Given the description of an element on the screen output the (x, y) to click on. 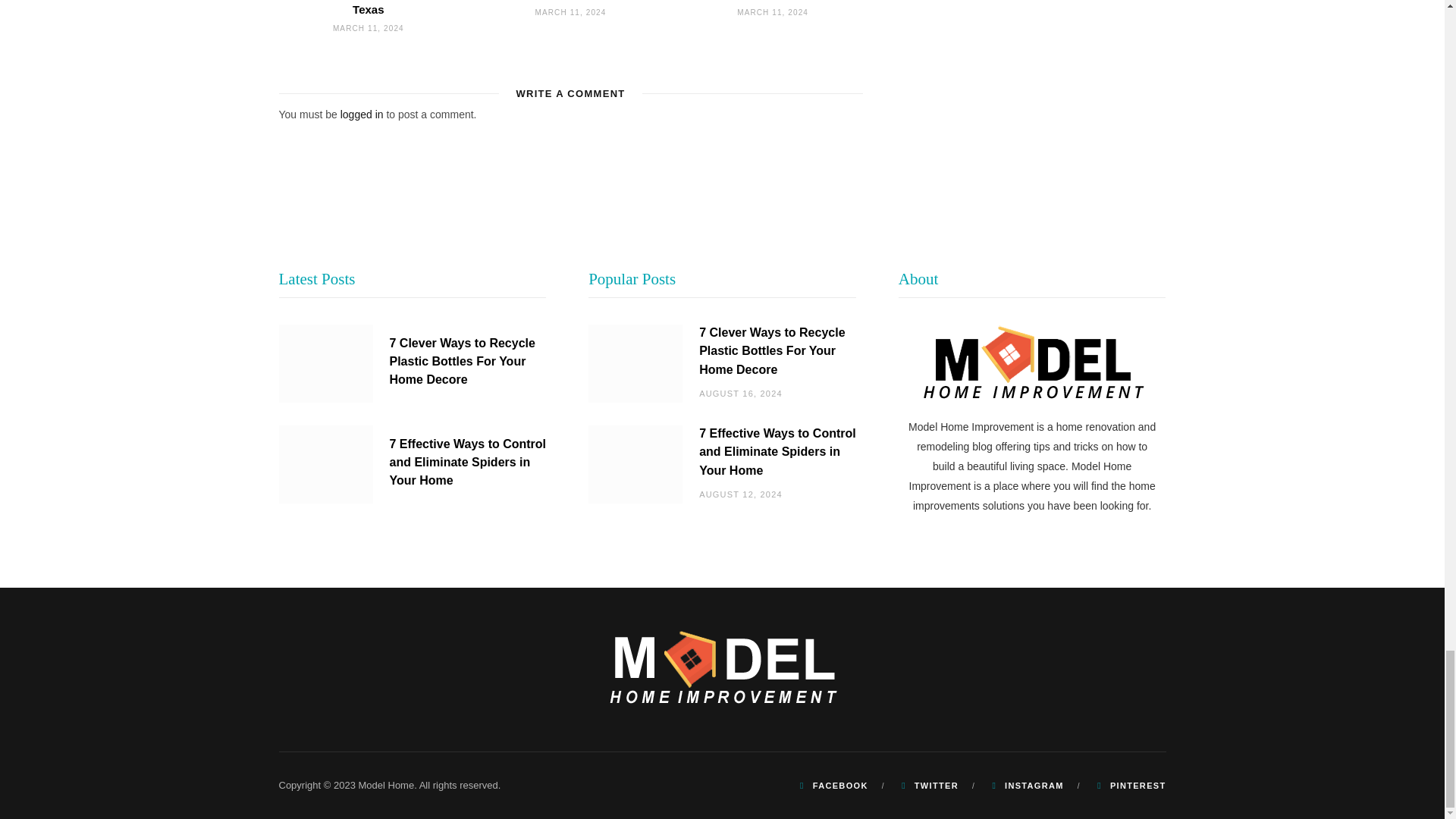
logged in (362, 114)
MARCH 11, 2024 (368, 28)
MARCH 11, 2024 (571, 12)
Furniture Stores in San Antonio, Texas (368, 7)
MARCH 11, 2024 (772, 12)
